Given the description of an element on the screen output the (x, y) to click on. 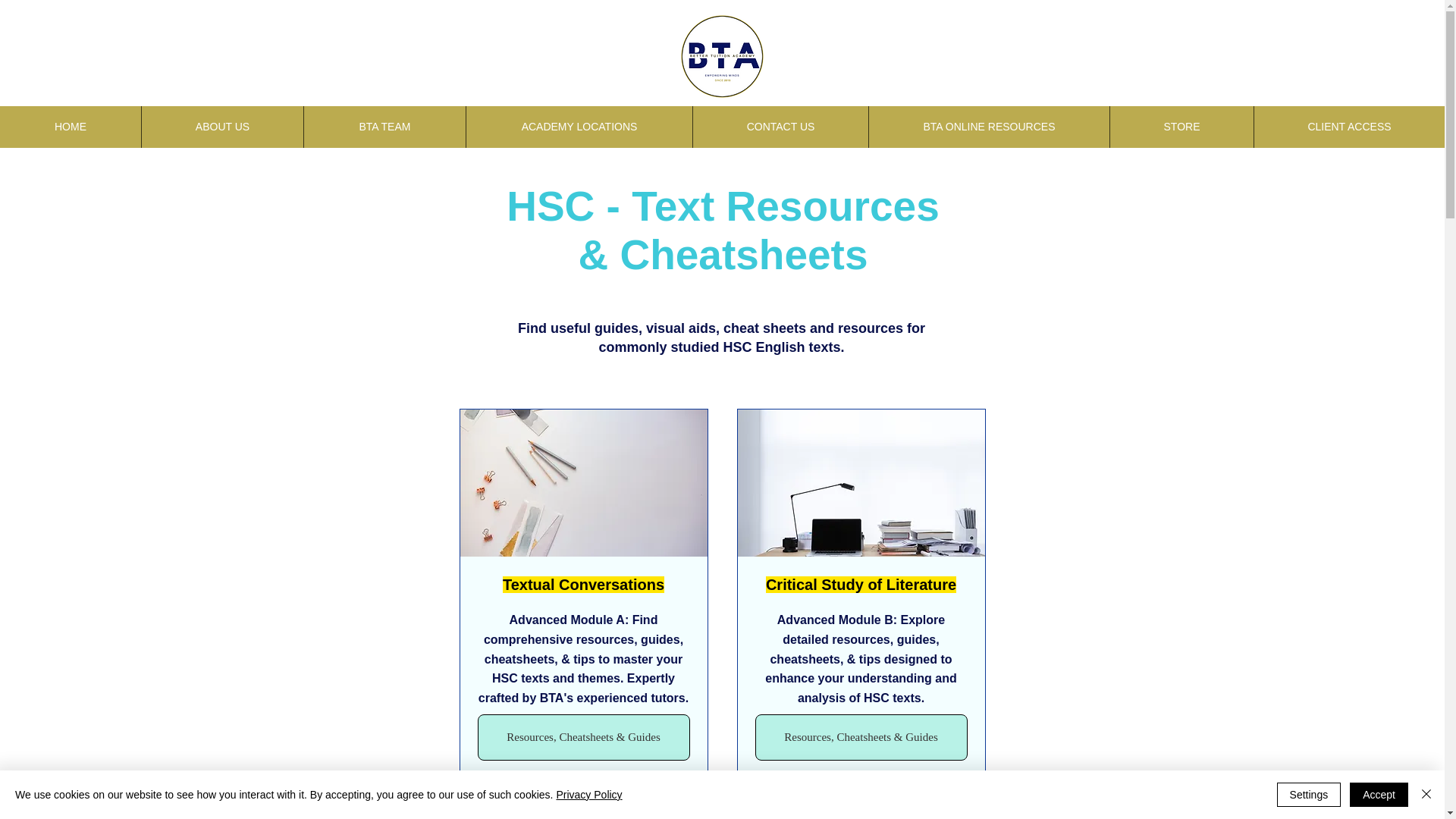
STORE (1181, 127)
BTA TEAM (383, 127)
ACADEMY LOCATIONS (579, 127)
BTA ONLINE RESOURCES (988, 127)
HOME (70, 127)
Image by Joanna Kosinska.jpg (583, 482)
CONTACT US (780, 127)
Image by freddie marriage.jpg (860, 482)
Image by Victor Deweerdt.jpg (583, 811)
Image by Romain Vignes.jpg (860, 811)
